Given the description of an element on the screen output the (x, y) to click on. 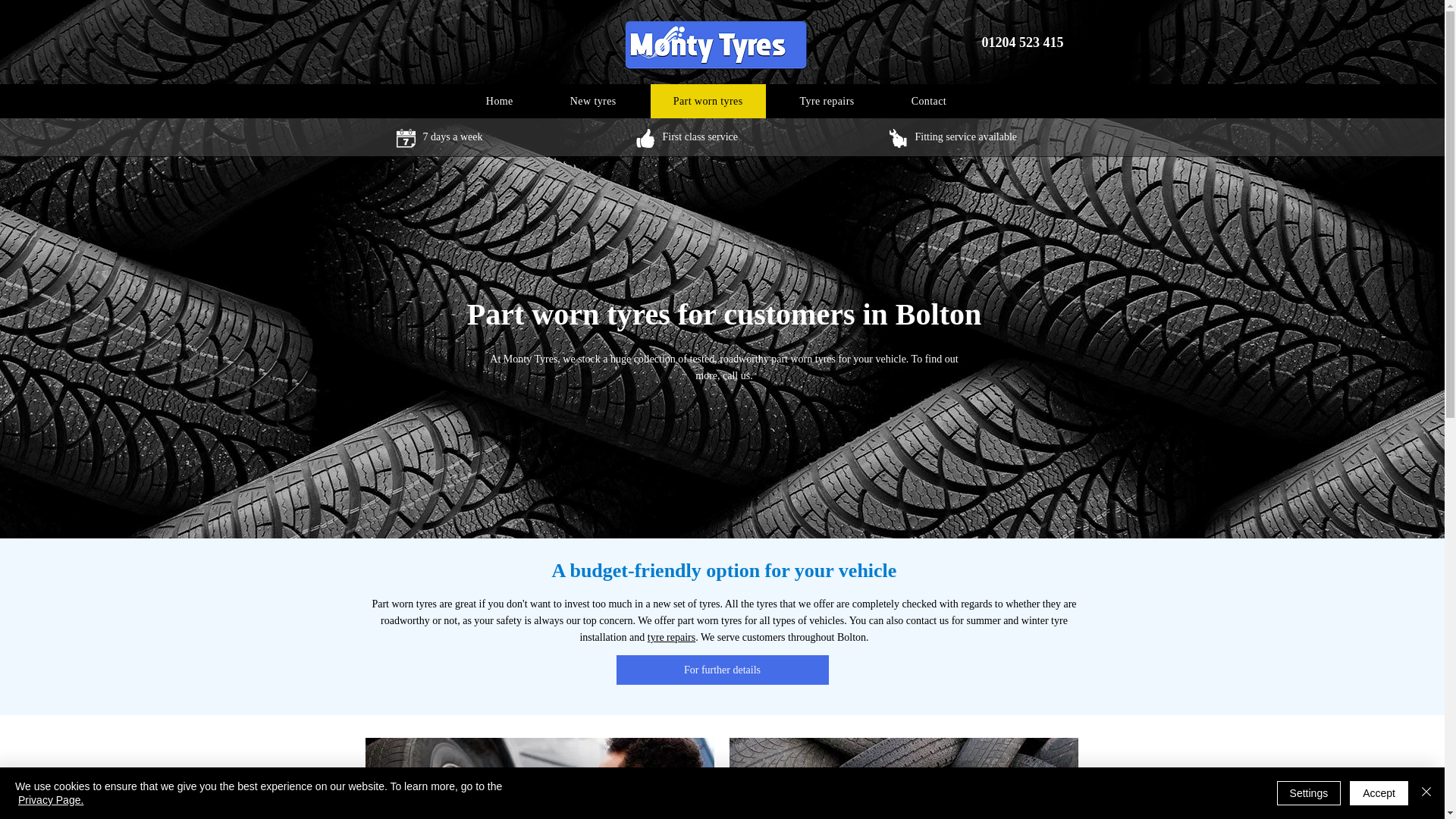
Accept (1378, 793)
Contact (928, 100)
Settings (1308, 793)
01204 523 415 (1021, 42)
Part worn tyres (707, 100)
For further details (721, 669)
Tyre repairs (827, 100)
Home (499, 100)
tyre repairs (671, 636)
Privacy Page. (49, 799)
New tyres (593, 100)
